Given the description of an element on the screen output the (x, y) to click on. 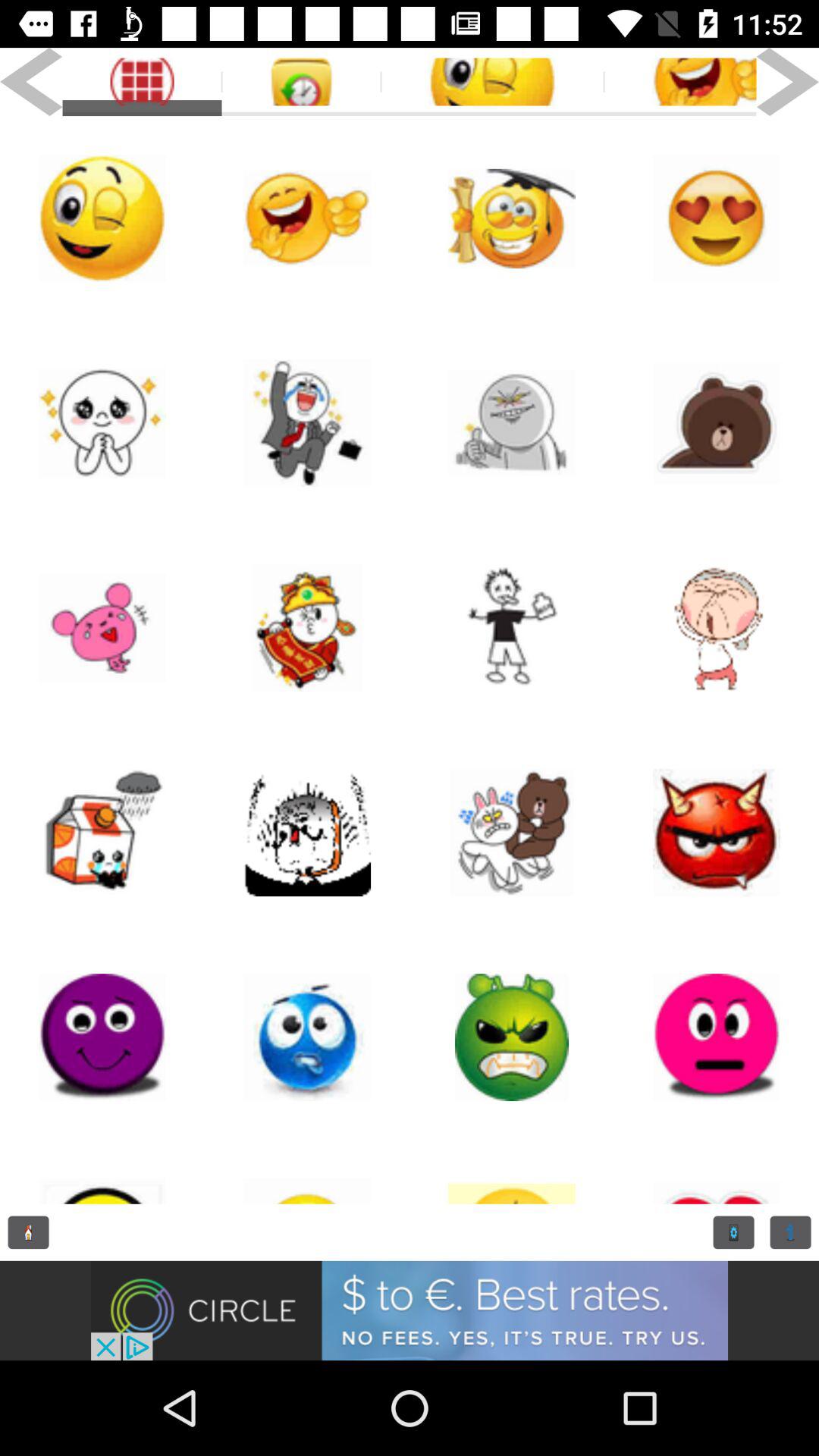
purple smiley emoji (102, 1037)
